Given the description of an element on the screen output the (x, y) to click on. 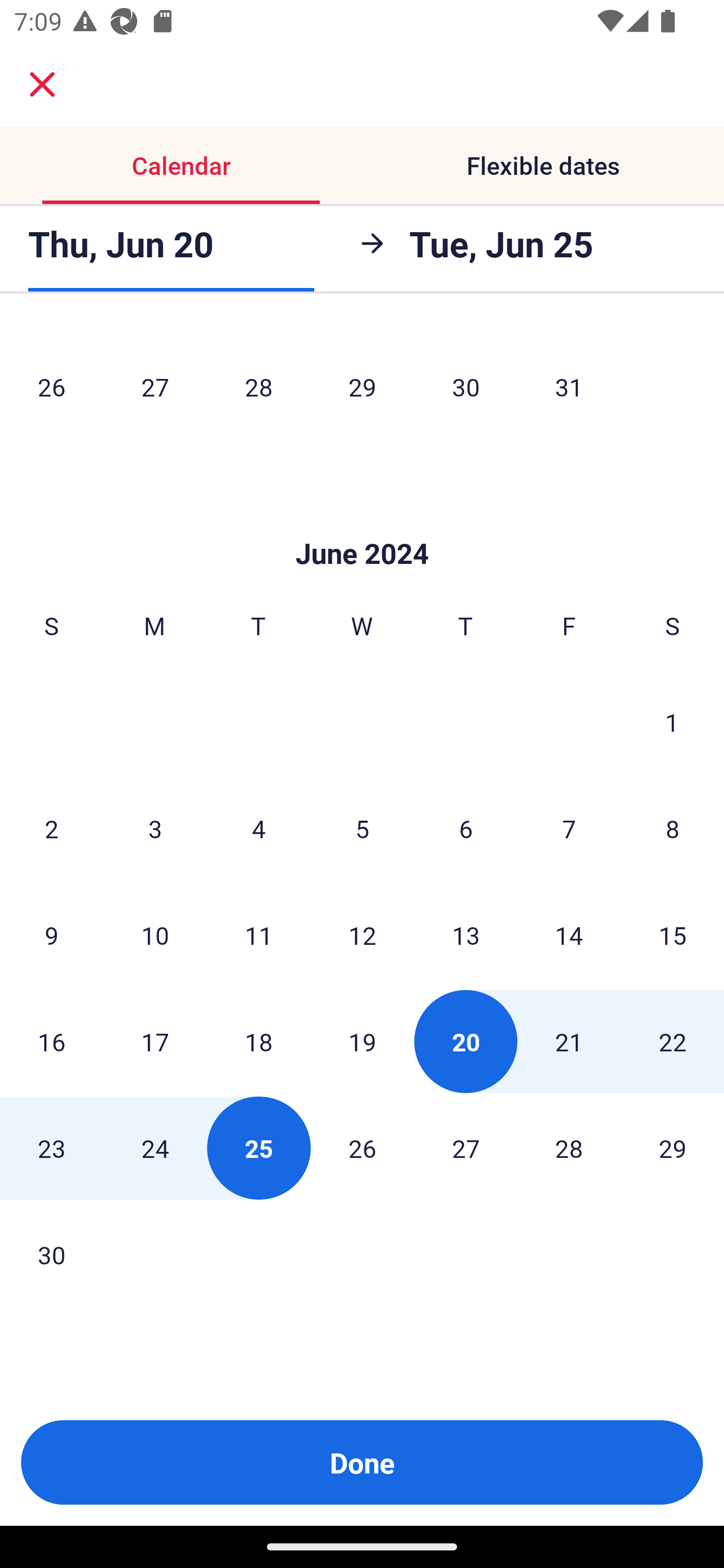
close. (42, 84)
Flexible dates (542, 164)
26 Sunday, May 26, 2024 (51, 386)
27 Monday, May 27, 2024 (155, 386)
28 Tuesday, May 28, 2024 (258, 386)
29 Wednesday, May 29, 2024 (362, 386)
30 Thursday, May 30, 2024 (465, 386)
31 Friday, May 31, 2024 (569, 386)
Skip to Done (362, 523)
1 Saturday, June 1, 2024 (672, 722)
2 Sunday, June 2, 2024 (51, 828)
3 Monday, June 3, 2024 (155, 828)
4 Tuesday, June 4, 2024 (258, 828)
5 Wednesday, June 5, 2024 (362, 828)
6 Thursday, June 6, 2024 (465, 828)
7 Friday, June 7, 2024 (569, 828)
8 Saturday, June 8, 2024 (672, 828)
9 Sunday, June 9, 2024 (51, 934)
10 Monday, June 10, 2024 (155, 934)
11 Tuesday, June 11, 2024 (258, 934)
12 Wednesday, June 12, 2024 (362, 934)
13 Thursday, June 13, 2024 (465, 934)
14 Friday, June 14, 2024 (569, 934)
15 Saturday, June 15, 2024 (672, 934)
16 Sunday, June 16, 2024 (51, 1040)
17 Monday, June 17, 2024 (155, 1040)
18 Tuesday, June 18, 2024 (258, 1040)
19 Wednesday, June 19, 2024 (362, 1040)
26 Wednesday, June 26, 2024 (362, 1147)
27 Thursday, June 27, 2024 (465, 1147)
28 Friday, June 28, 2024 (569, 1147)
29 Saturday, June 29, 2024 (672, 1147)
30 Sunday, June 30, 2024 (51, 1254)
Done (361, 1462)
